Given the description of an element on the screen output the (x, y) to click on. 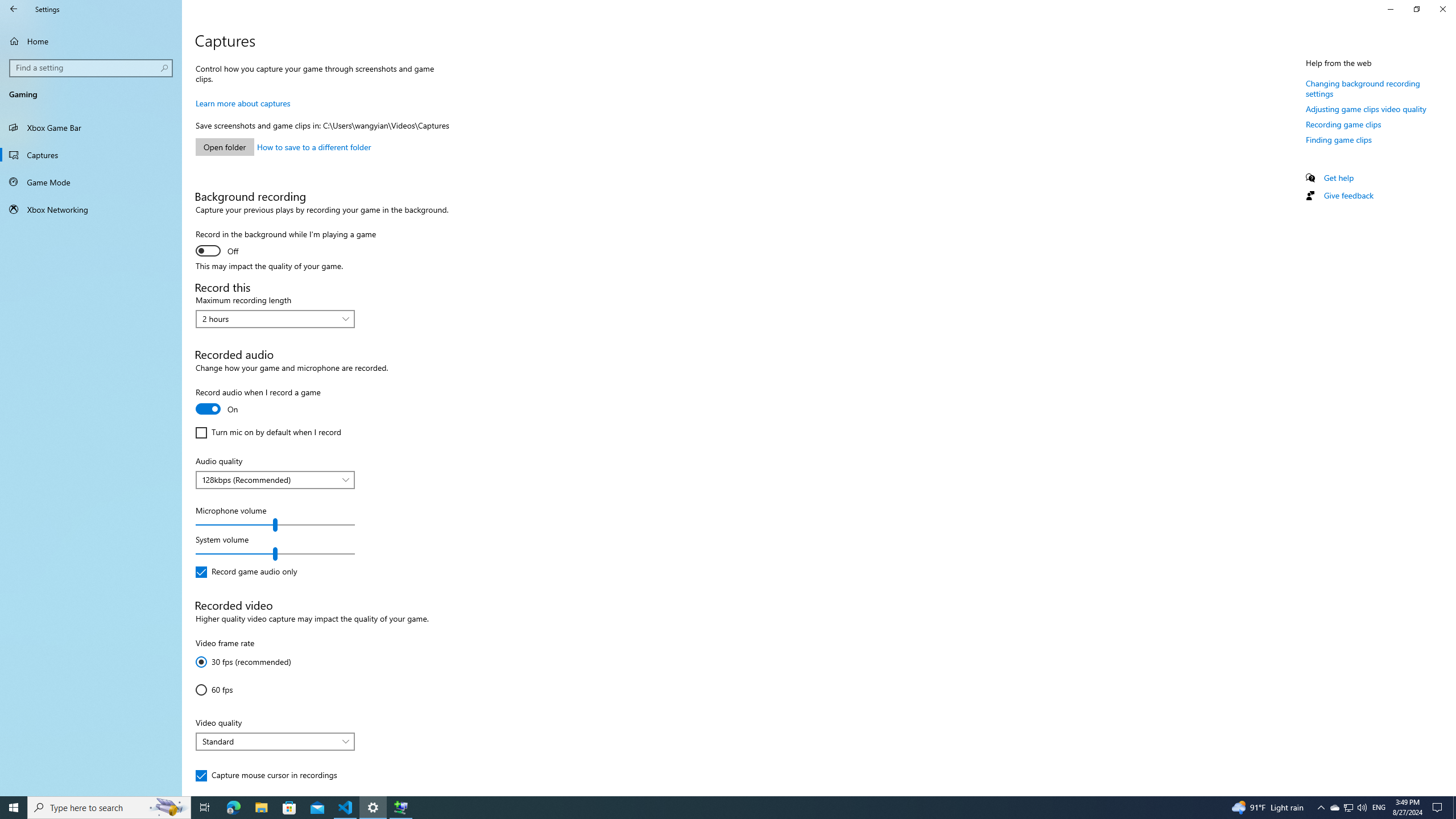
128kbps (Recommended) (269, 479)
Extensible Wizards Host Process - 1 running window (400, 807)
Video quality (275, 741)
Standard (269, 741)
Record in the background while I'm playing a game (286, 243)
